Given the description of an element on the screen output the (x, y) to click on. 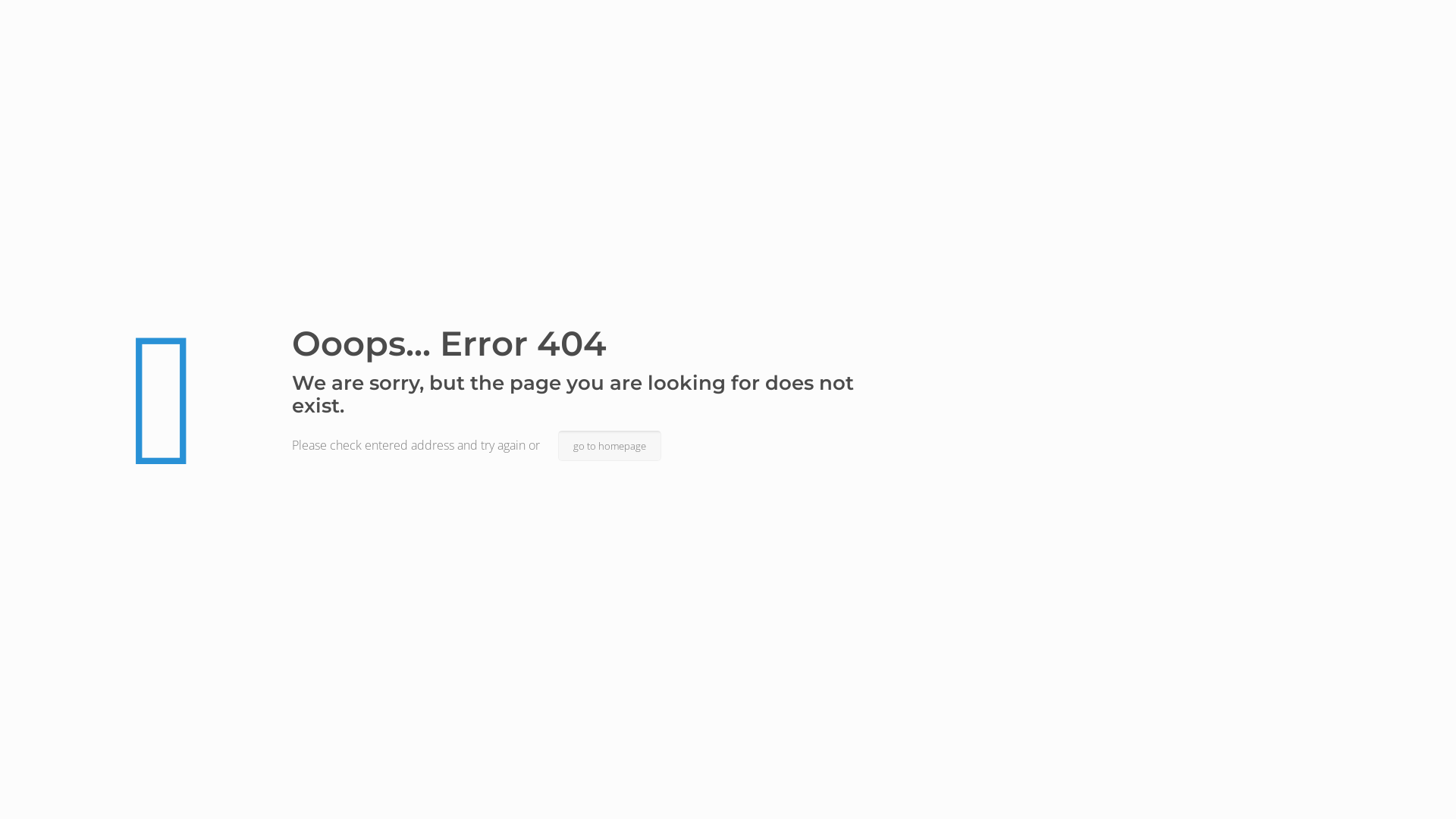
go to homepage Element type: text (609, 445)
